Given the description of an element on the screen output the (x, y) to click on. 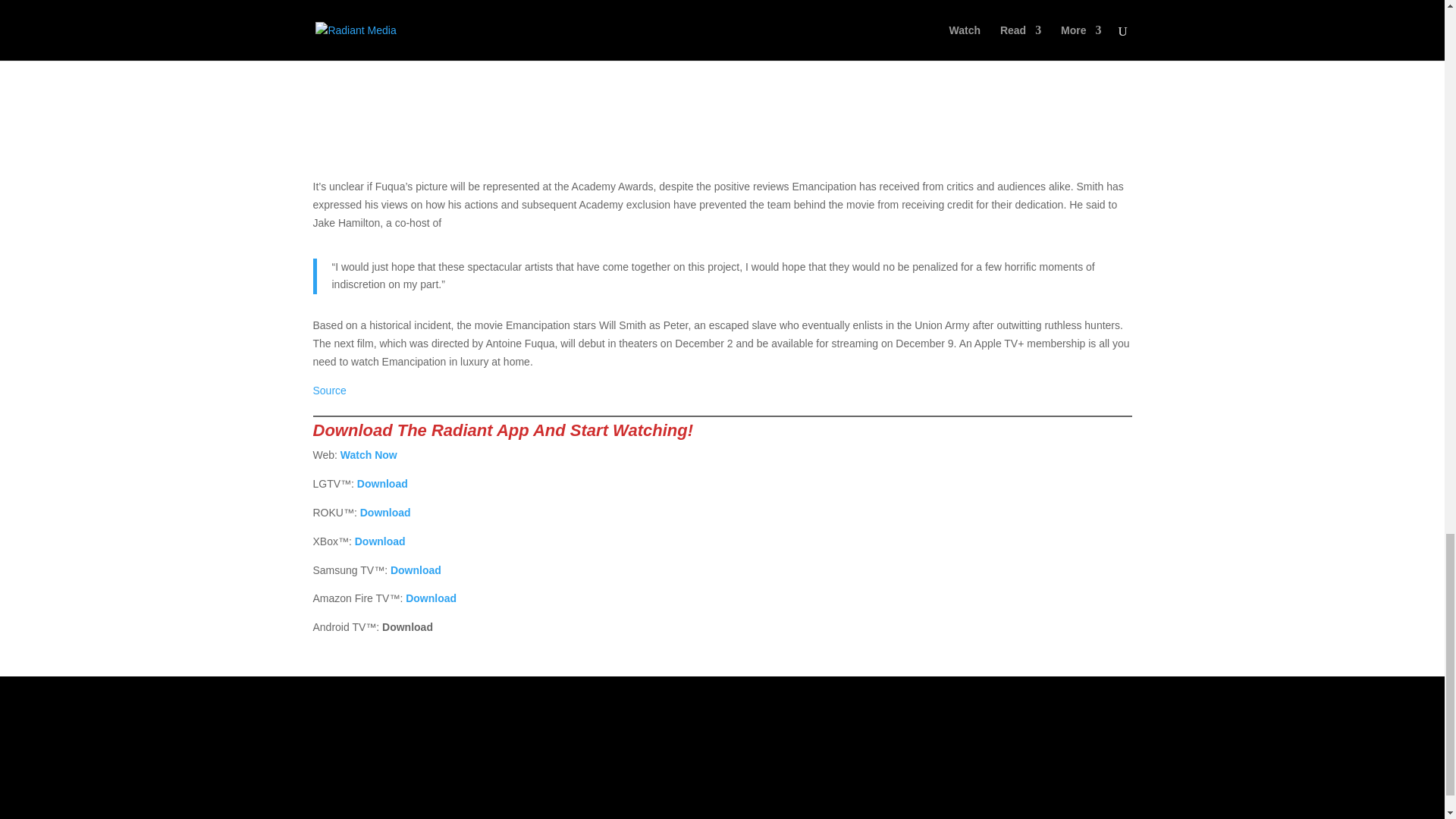
Source (329, 390)
Download (431, 598)
Watch Now (368, 454)
Download (381, 483)
Download (415, 570)
Download (380, 541)
Download (384, 512)
